Given the description of an element on the screen output the (x, y) to click on. 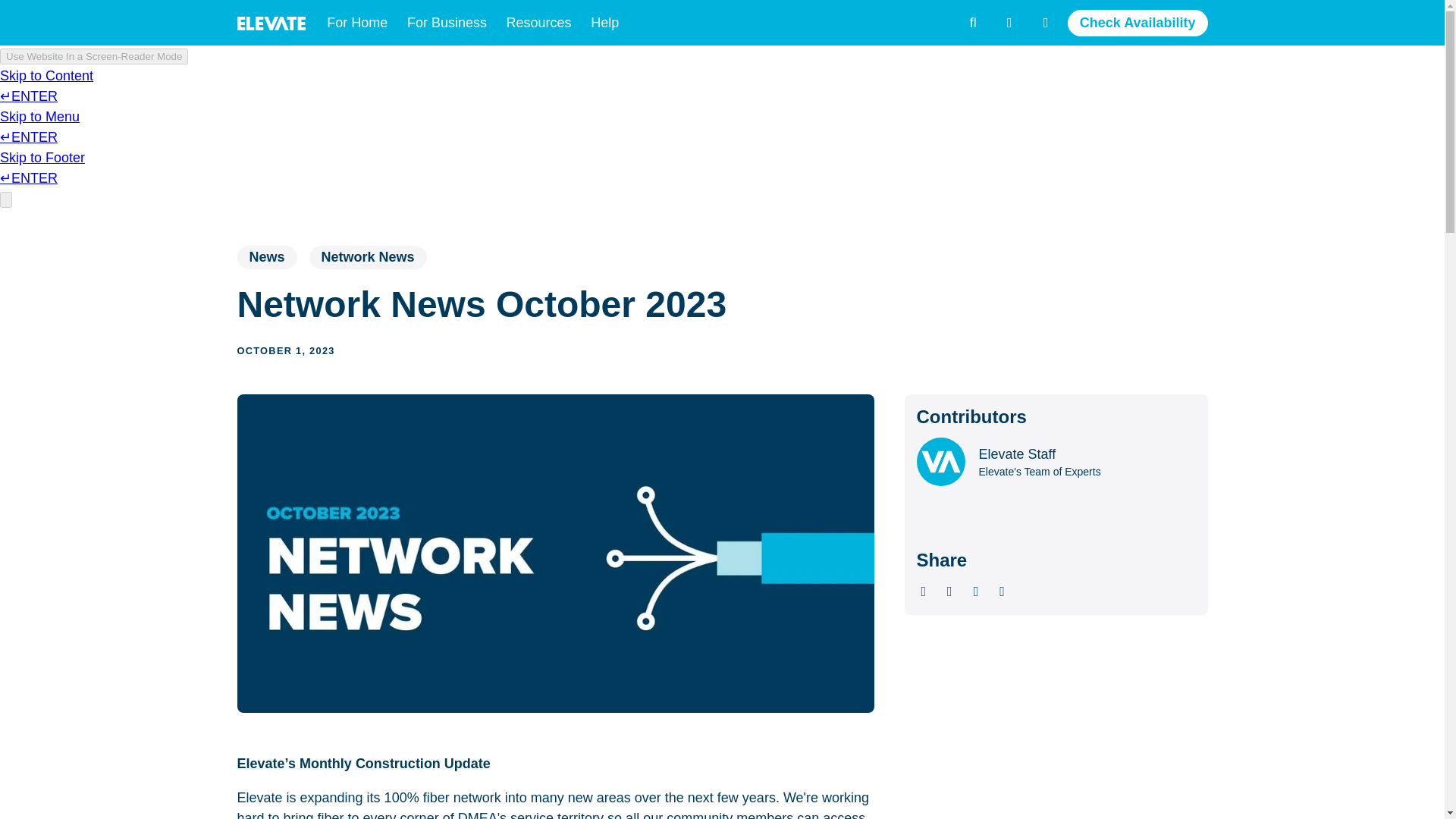
Check Availability (1137, 22)
News (266, 257)
Network News (367, 257)
